Given the description of an element on the screen output the (x, y) to click on. 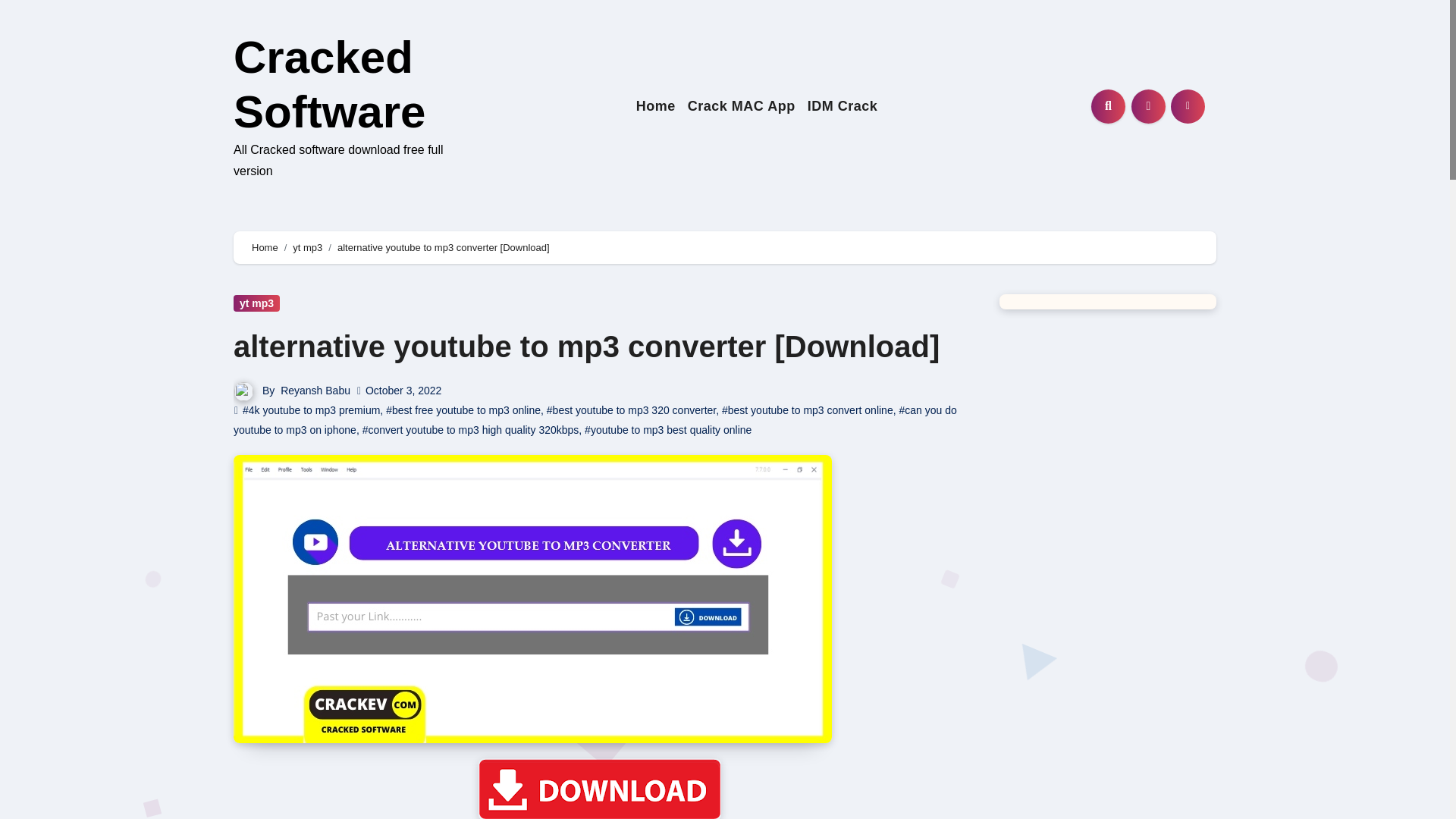
IDM Crack (842, 106)
Home (264, 247)
October 3, 2022 (403, 390)
Crack MAC App (741, 106)
Home (655, 106)
Home (655, 106)
Reyansh Babu (315, 390)
Cracked Software (328, 84)
yt mp3 (306, 247)
IDM Crack (842, 106)
yt mp3 (255, 303)
Crack MAC App (741, 106)
